Given the description of an element on the screen output the (x, y) to click on. 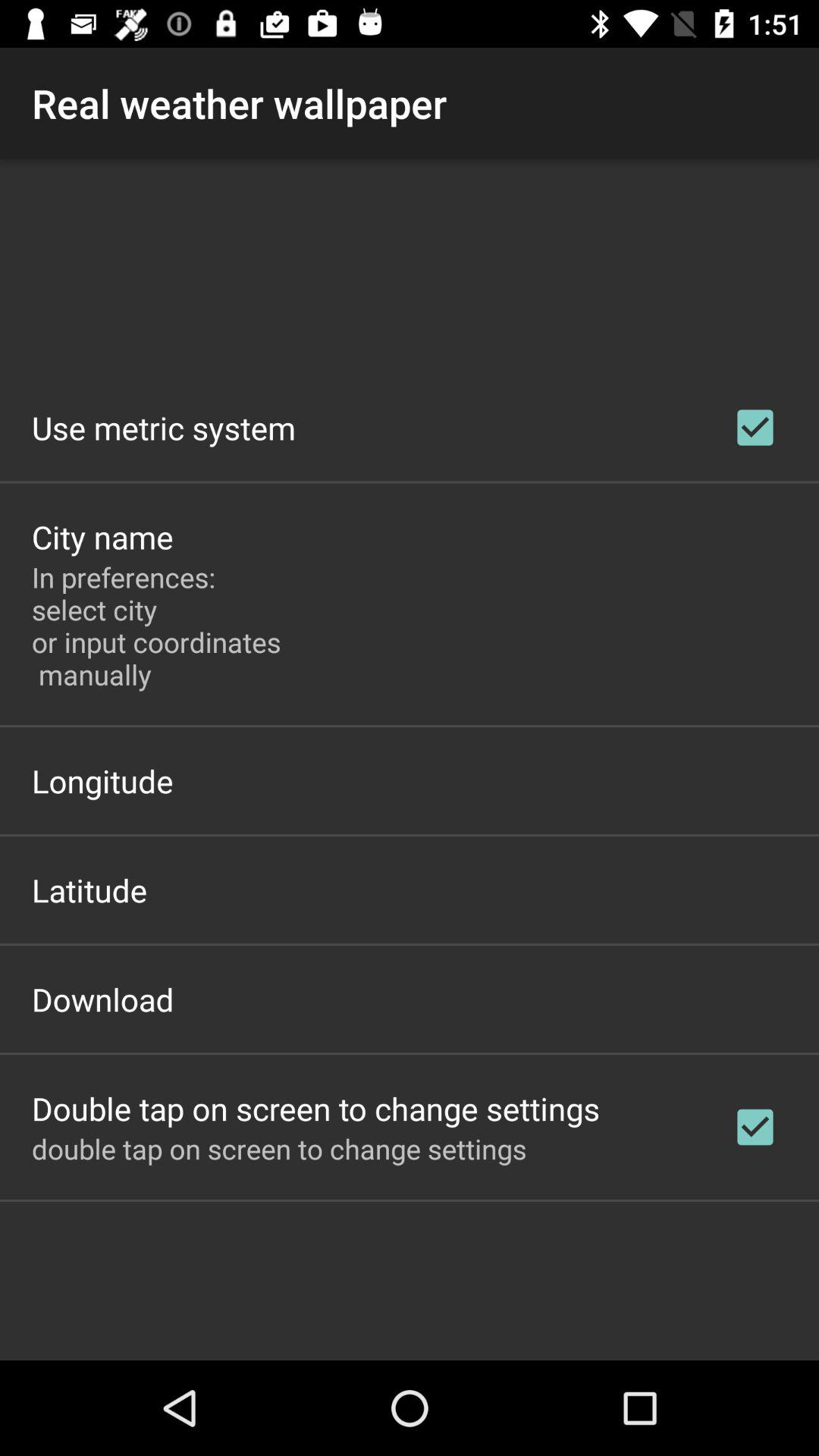
flip to the use metric system app (163, 427)
